Given the description of an element on the screen output the (x, y) to click on. 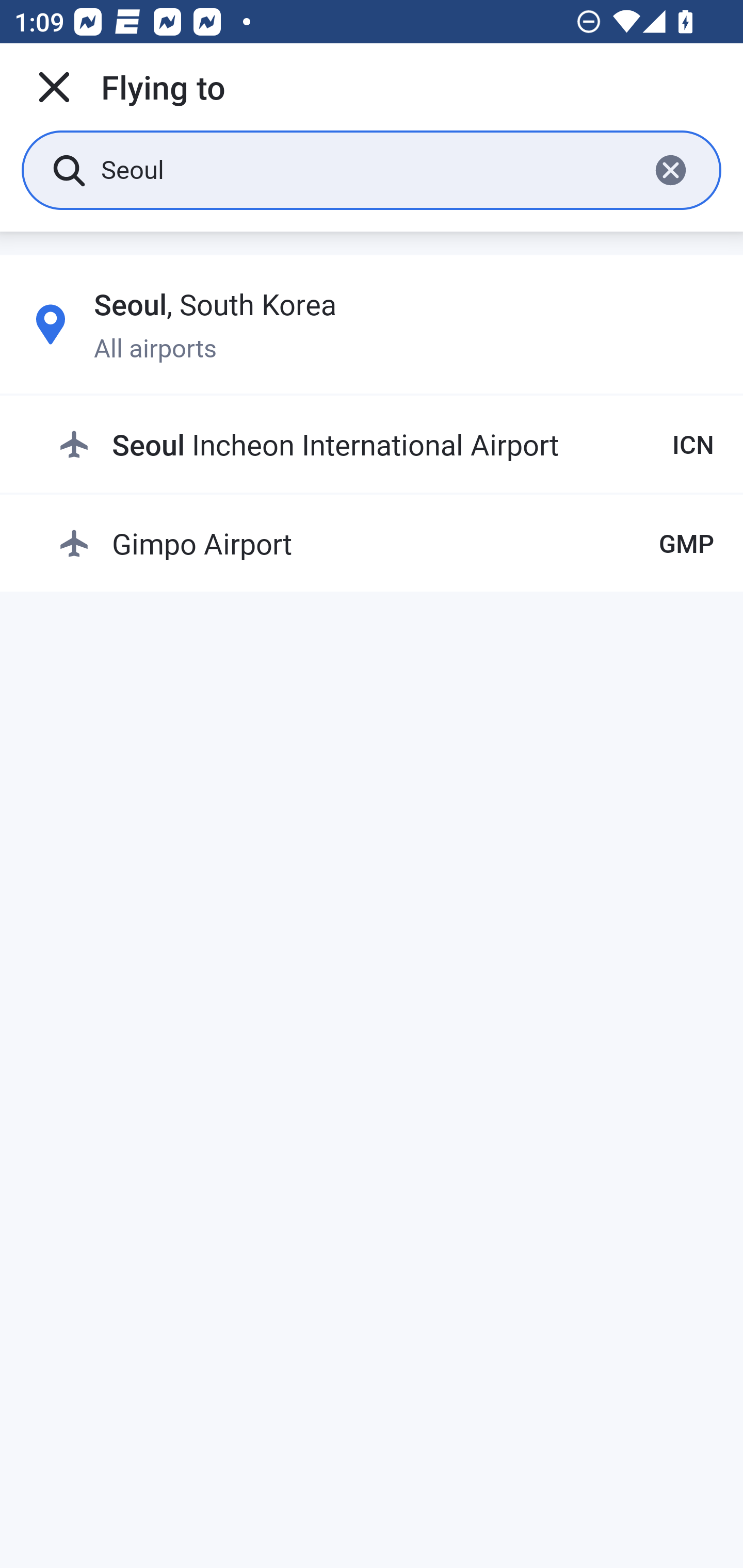
Seoul (367, 169)
Seoul, South Korea All airports (371, 324)
Seoul Incheon International Airport ICN (385, 444)
Gimpo Airport GMP (385, 543)
